Given the description of an element on the screen output the (x, y) to click on. 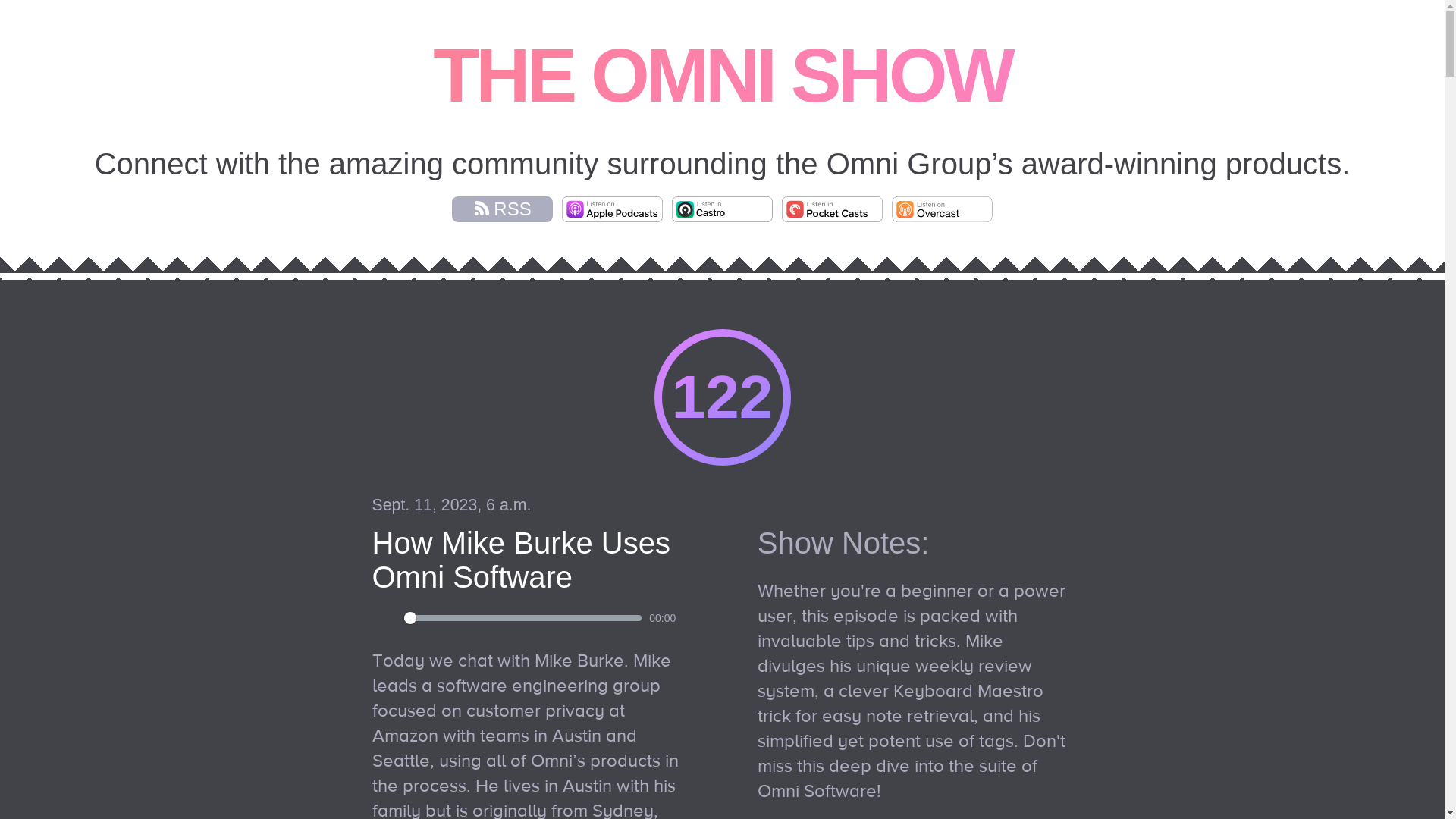
RSS (502, 208)
THE OMNI SHOW (721, 74)
Play (383, 617)
How Mike Burke Uses Omni Software (520, 559)
122 (721, 396)
0 (522, 617)
